Given the description of an element on the screen output the (x, y) to click on. 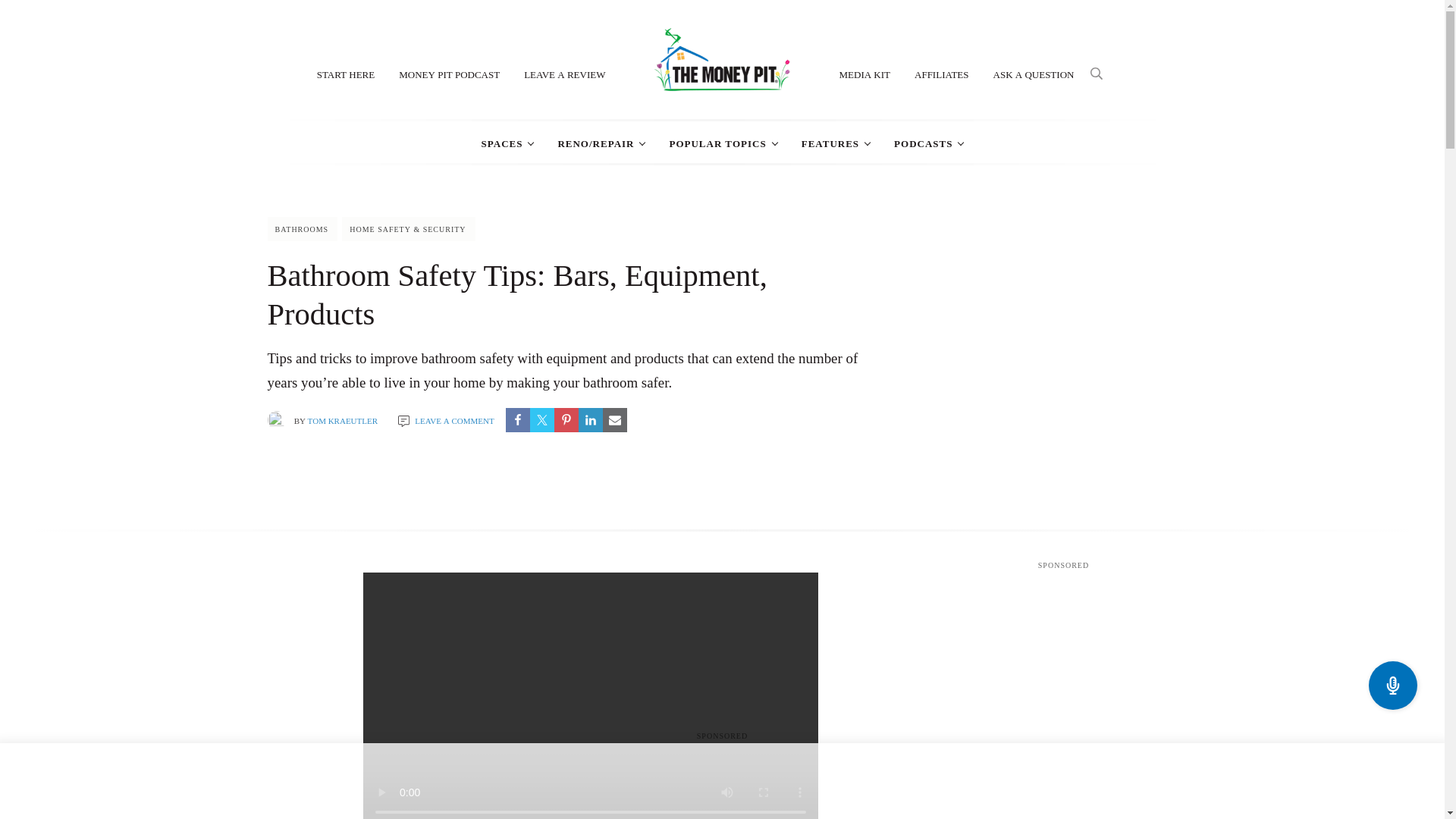
Media Kit (864, 73)
Leave a Review (564, 73)
Ask a Question (1033, 73)
Share on LinkedIn (590, 419)
Affiliates (941, 73)
Share via Email (614, 419)
Money Pit Podcast (449, 73)
Share on Facebook (517, 419)
Share on Pinterest (566, 419)
